Given the description of an element on the screen output the (x, y) to click on. 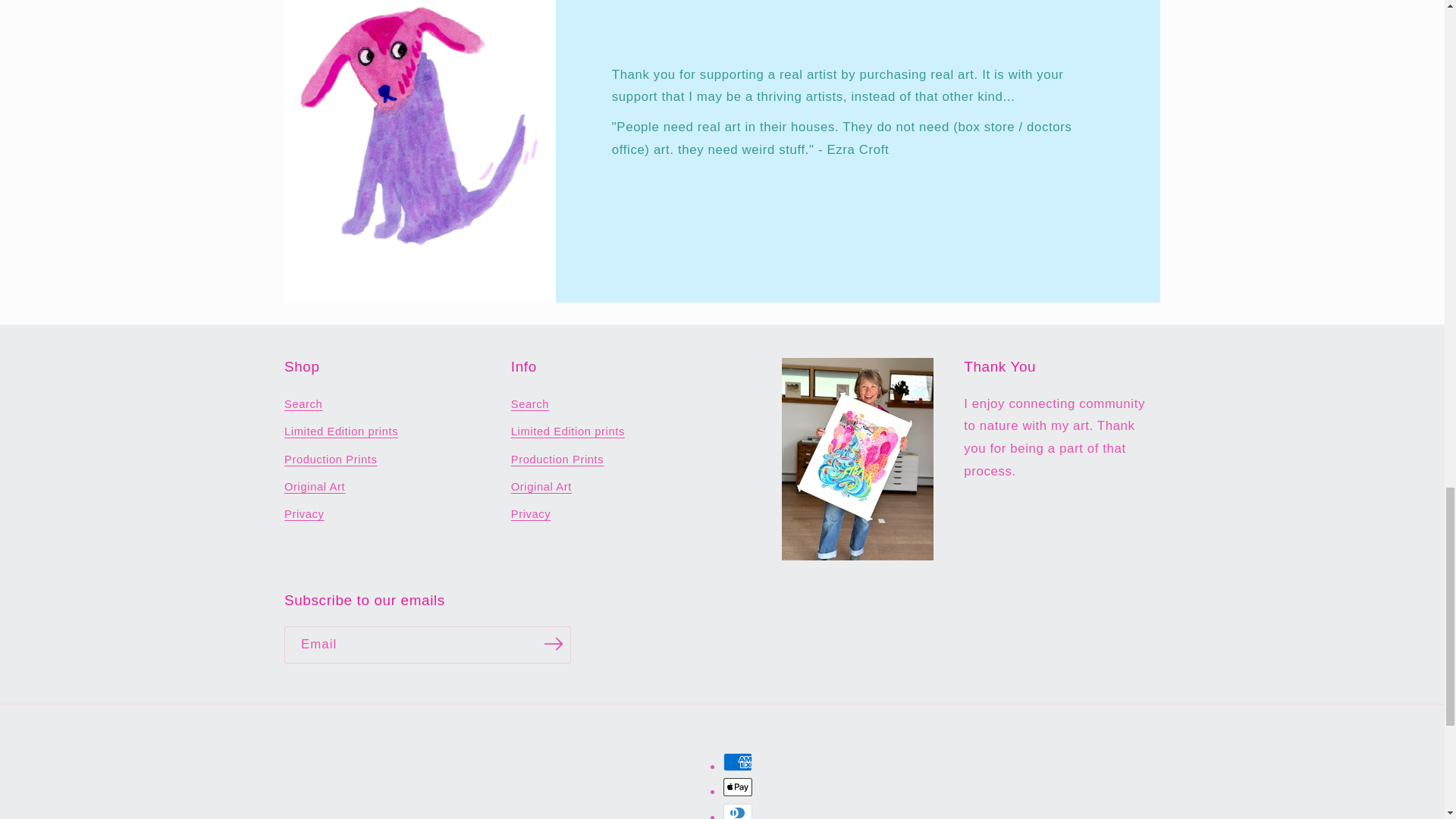
Original Art (314, 487)
Diners Club (737, 811)
Apple Pay (737, 787)
Limited Edition prints (340, 431)
Production Prints (330, 459)
Search (302, 406)
Privacy (303, 514)
American Express (737, 761)
